Given the description of an element on the screen output the (x, y) to click on. 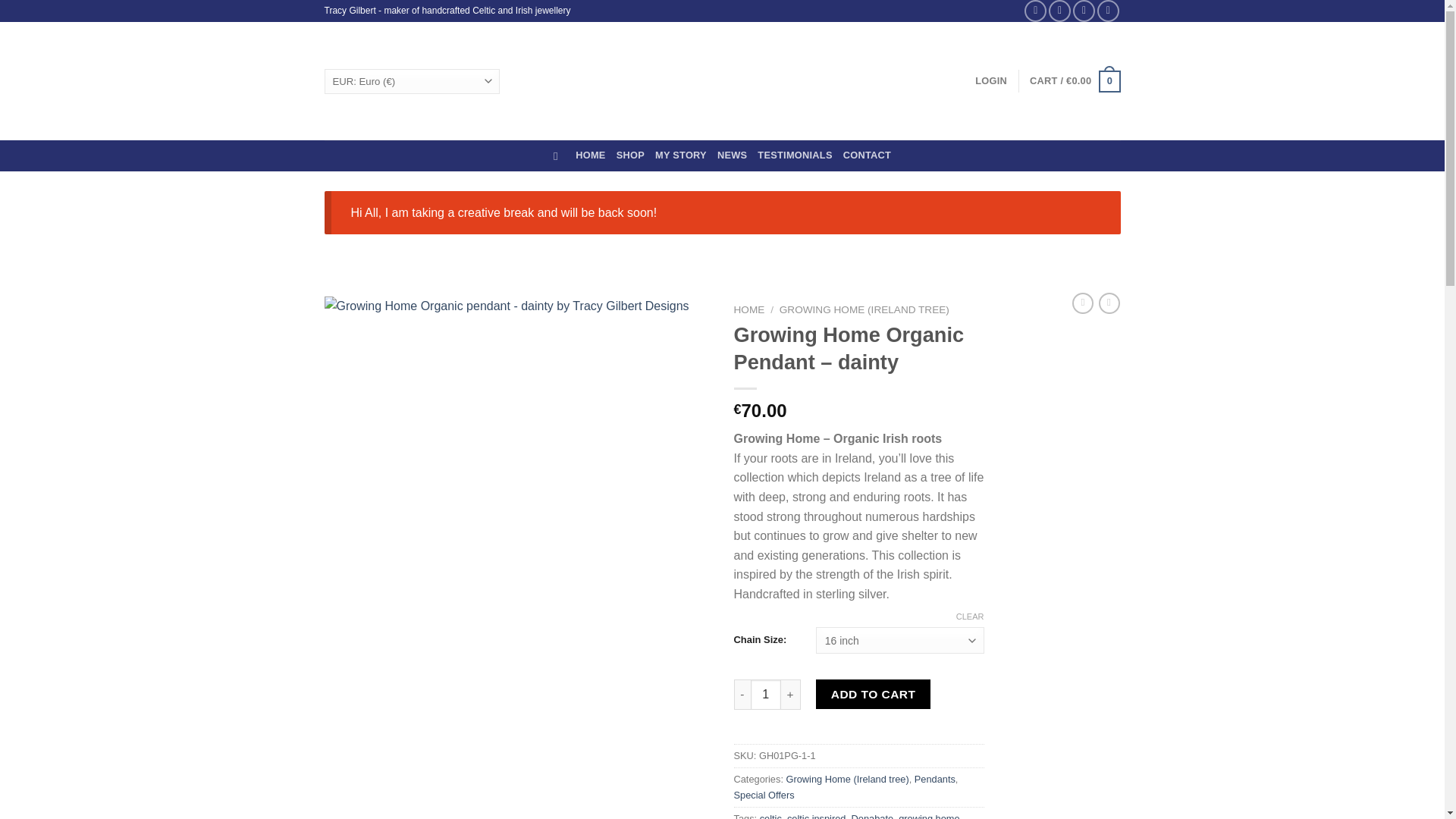
Special Offers (763, 794)
NEWS (731, 155)
- (742, 694)
Follow on Pinterest (1108, 11)
Follow on Facebook (1035, 11)
celtic (770, 816)
MY STORY (680, 155)
1 (765, 694)
Donabate (872, 816)
LOGIN (991, 81)
Pendants (934, 778)
Growing Home Organic - dainty (517, 444)
HOME (590, 155)
TESTIMONIALS (794, 155)
